Given the description of an element on the screen output the (x, y) to click on. 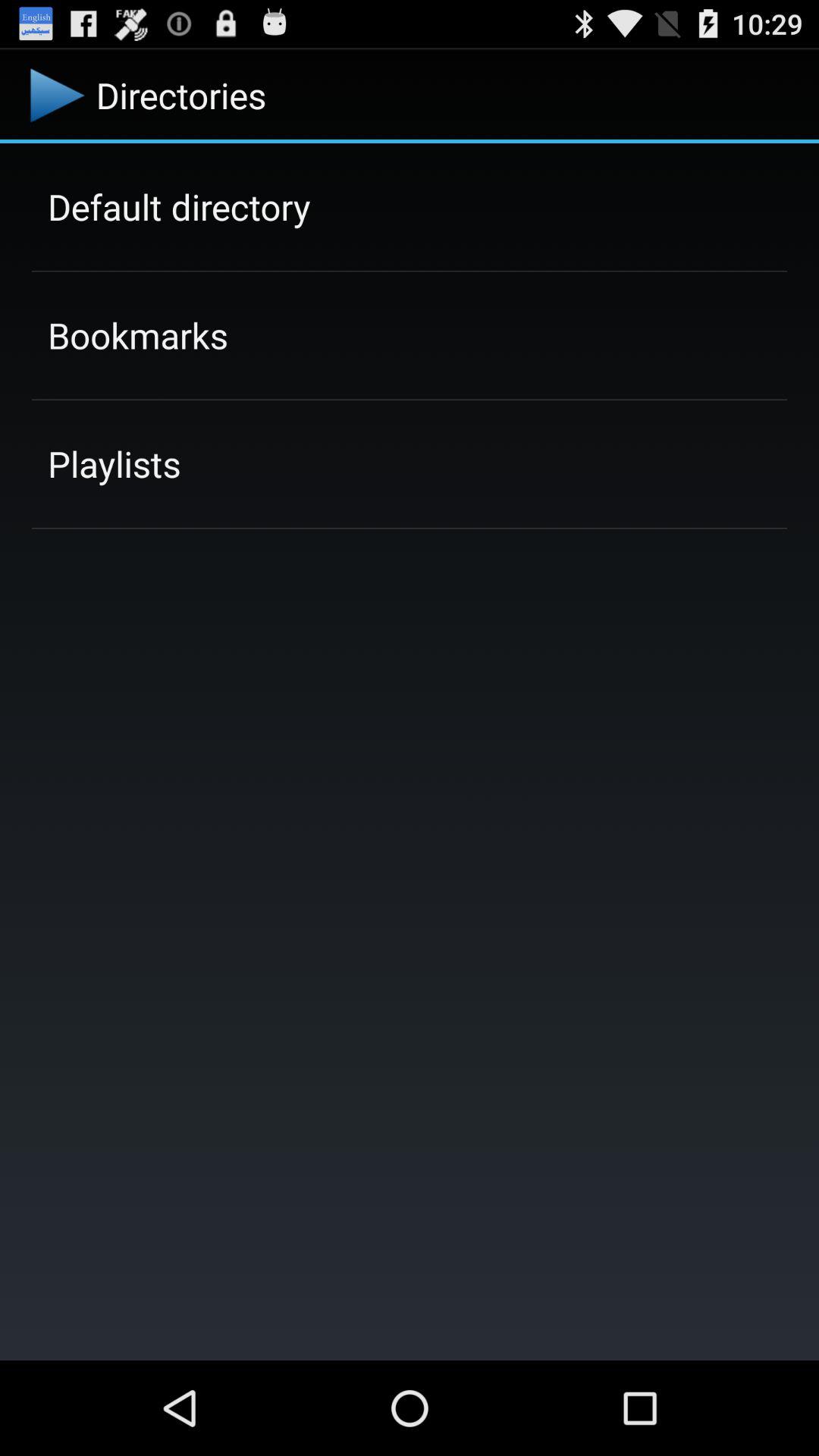
press bookmarks app (137, 335)
